Given the description of an element on the screen output the (x, y) to click on. 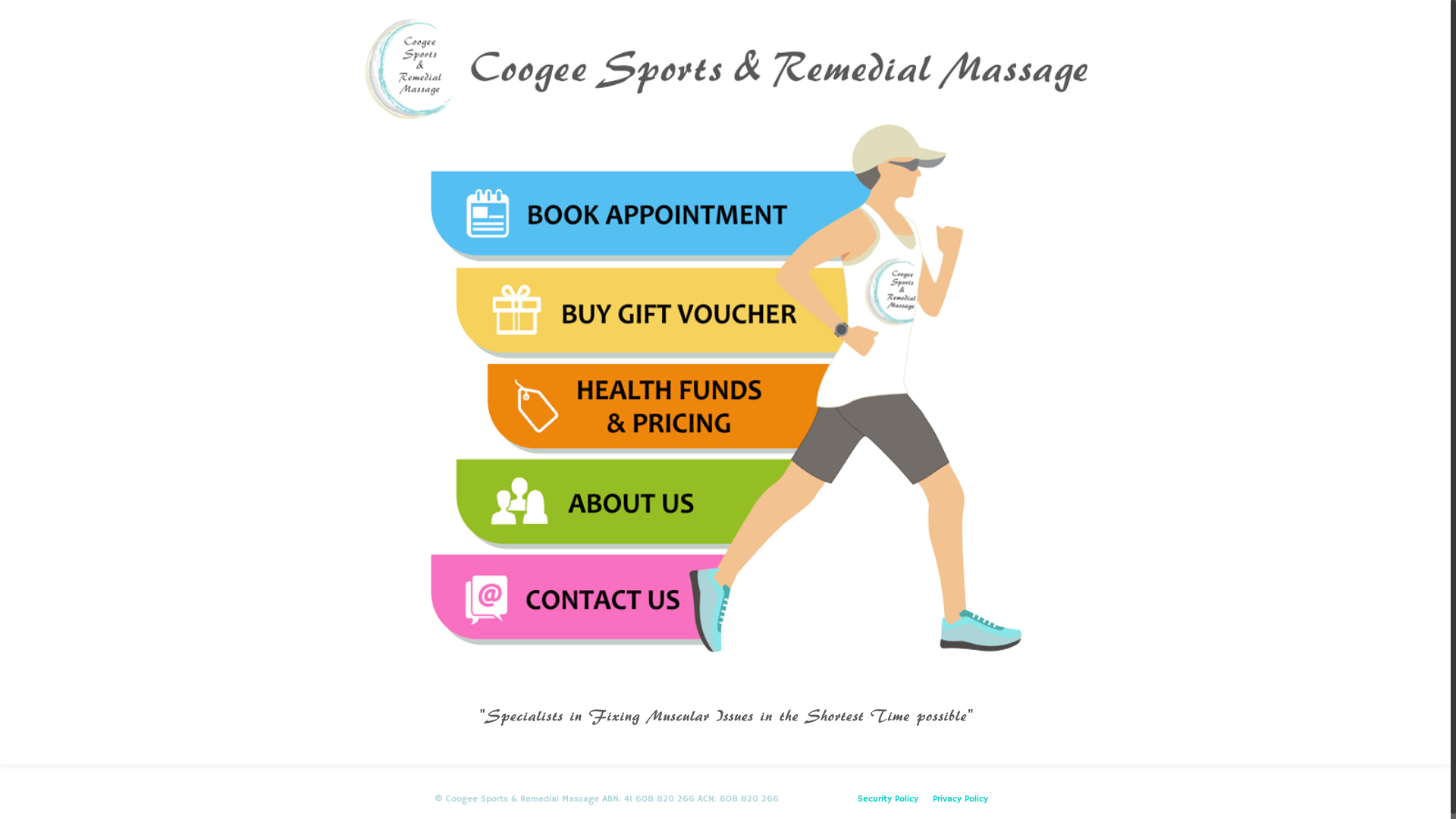
Security Policy Element type: text (886, 798)
Privacy Policy Element type: text (960, 798)
